Given the description of an element on the screen output the (x, y) to click on. 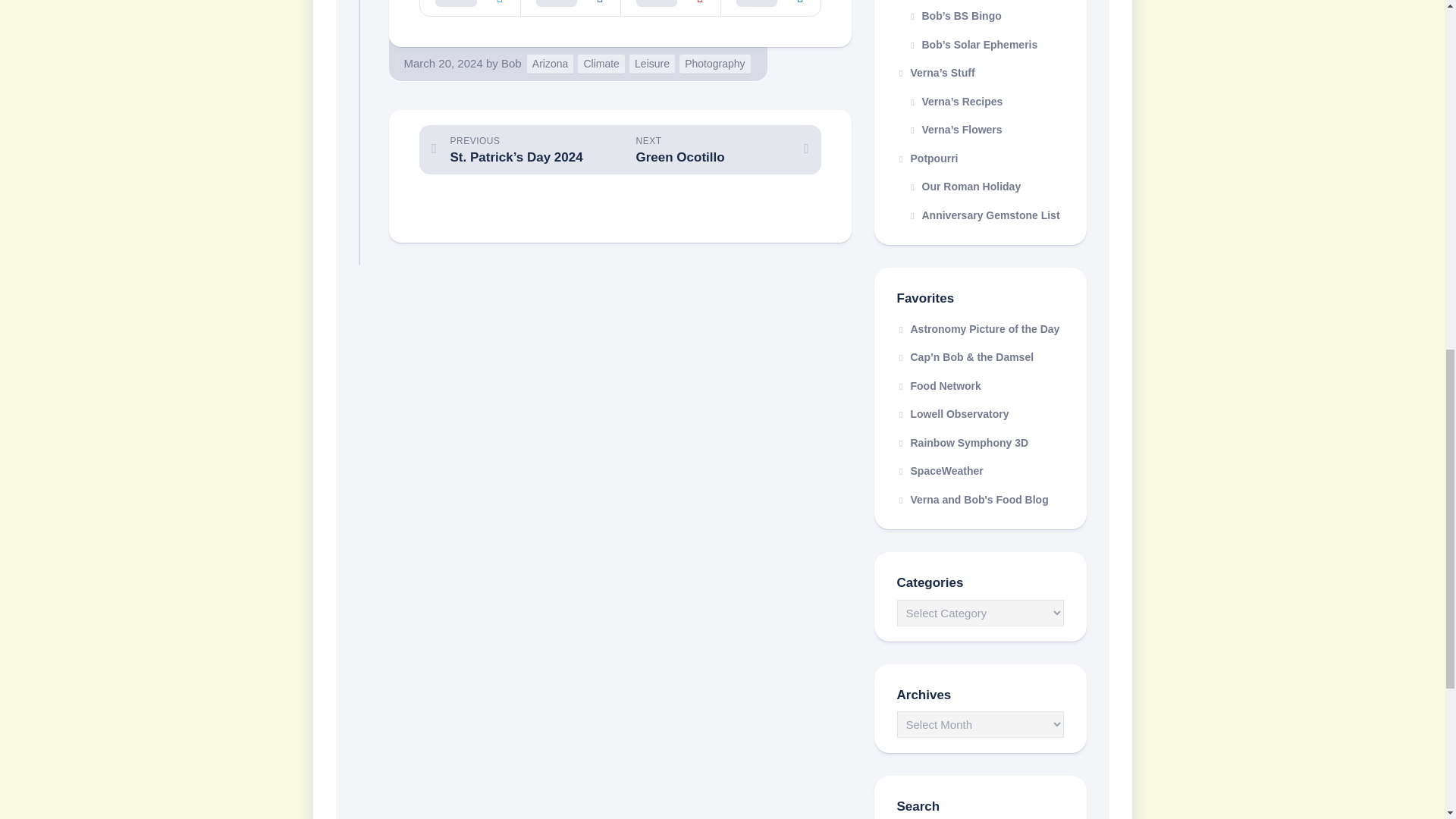
Lowell Observatory (952, 413)
Share on LinkedIn (770, 7)
Rainbow Symphony 3D (961, 442)
Climate (601, 63)
Astronomy Picture of the Day (977, 328)
Posts by Bob (510, 62)
Leisure (651, 63)
Food Network (937, 385)
Share on Facebook (569, 7)
Photography (714, 63)
Our Roman Holiday (979, 186)
News about Space (939, 470)
Classy Cuisine (972, 499)
Potpourri (979, 158)
Anniversary Gemstone List (979, 215)
